Given the description of an element on the screen output the (x, y) to click on. 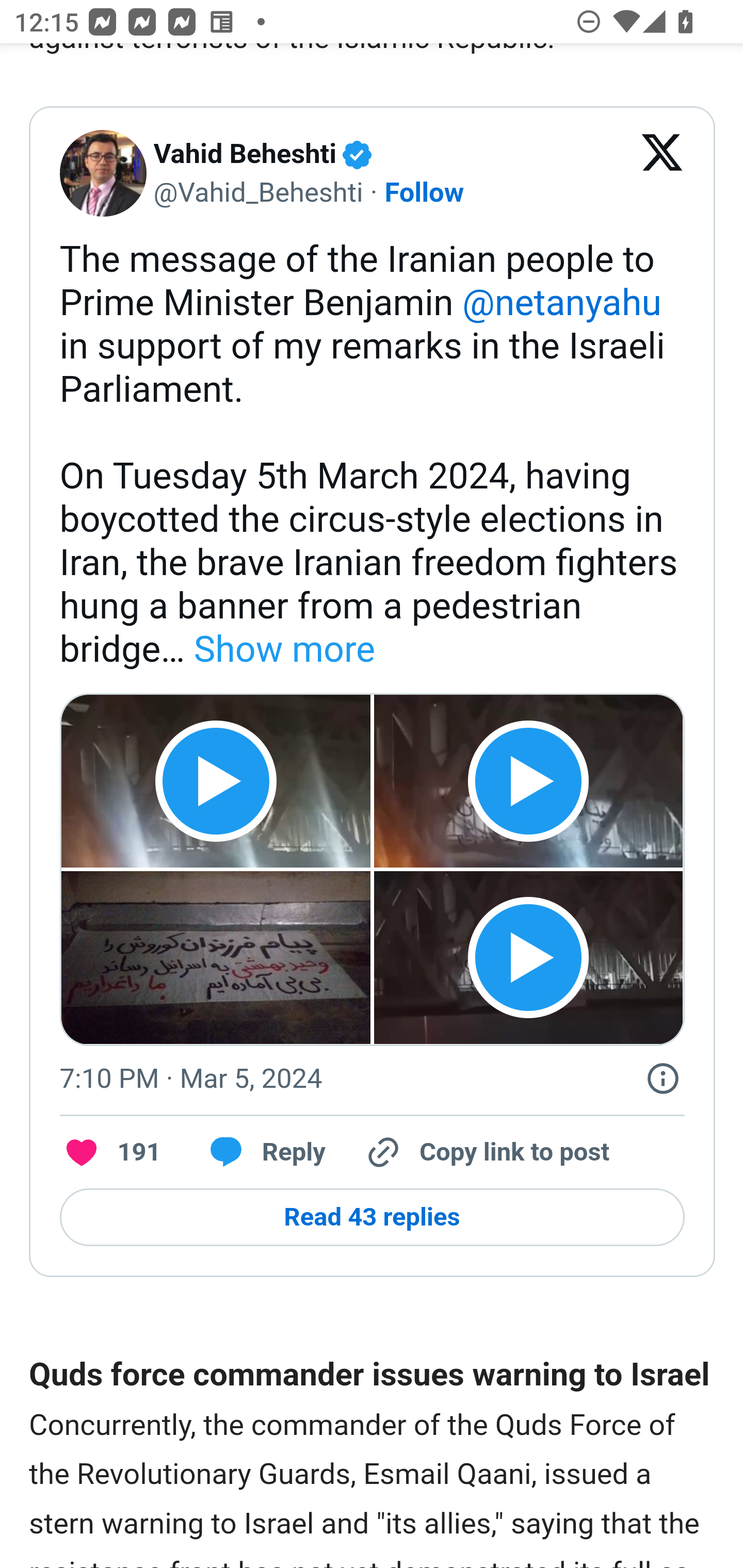
View on X (662, 173)
@Vahid_Beheshti (257, 192)
Follow (423, 192)
@netanyahu (560, 304)
 Show more   Show more (280, 650)
View video on X (216, 781)
View video on X (526, 781)
Image Image Image (216, 957)
View video on X (526, 957)
X Ads info and privacy (662, 1078)
7:10 PM · Mar 5, 2024 (190, 1078)
Like. This post has 191 likes 191 (109, 1152)
Reply to this post on X Reply (260, 1152)
Copy link to post (485, 1152)
Read 43 replies (371, 1217)
